Given the description of an element on the screen output the (x, y) to click on. 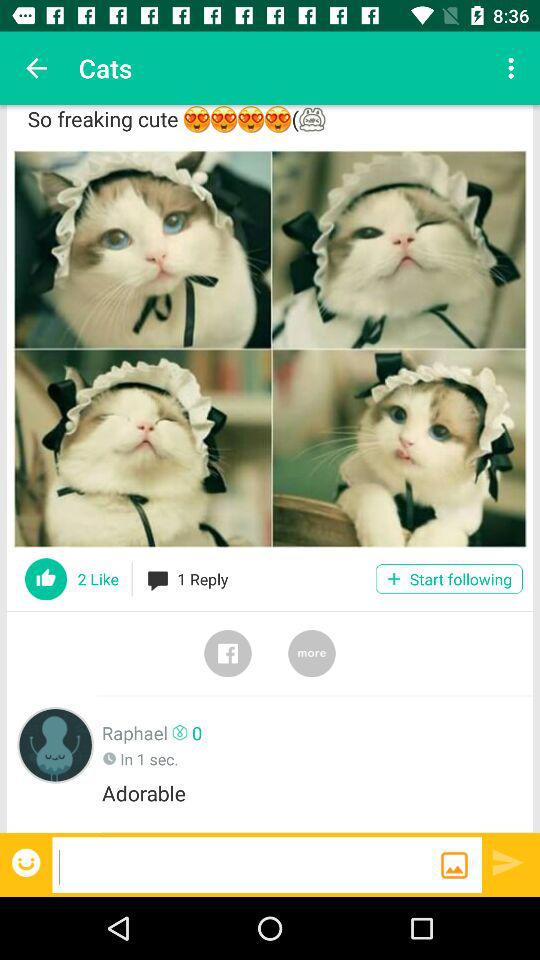
adorables amigos (269, 348)
